Given the description of an element on the screen output the (x, y) to click on. 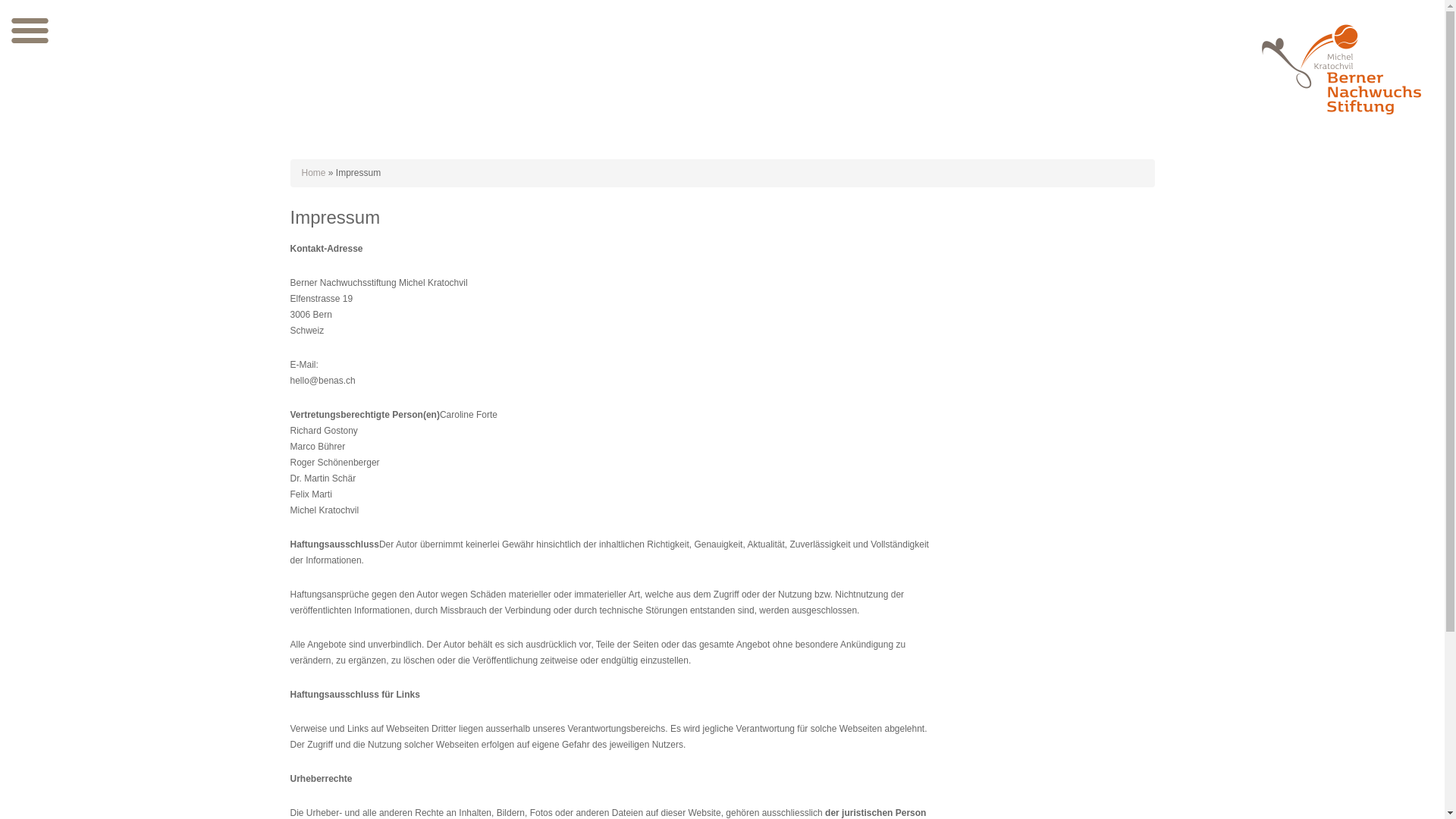
Home Element type: text (313, 172)
benas_logo_web_2000 Element type: hover (1341, 68)
